Given the description of an element on the screen output the (x, y) to click on. 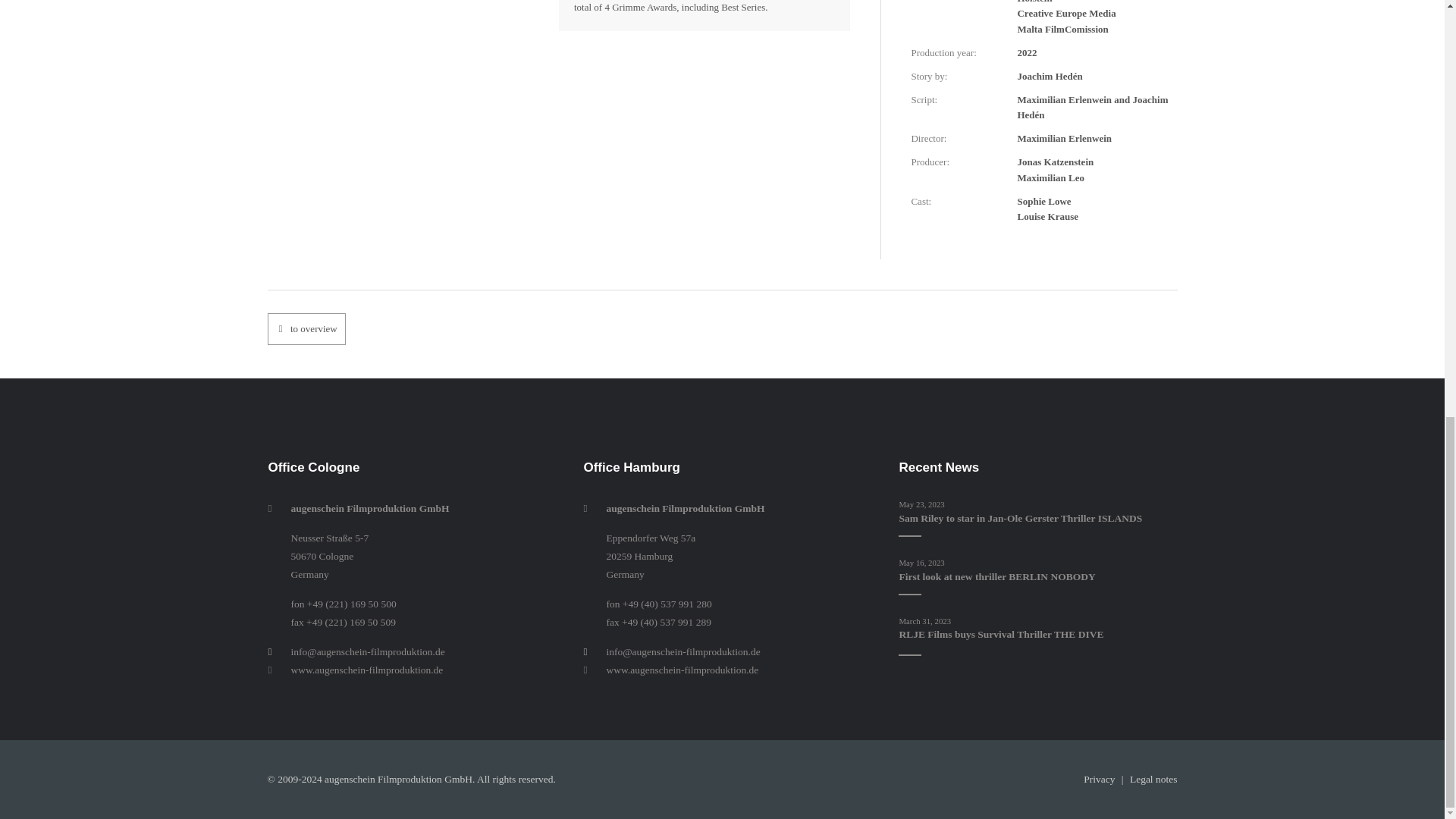
to overview (305, 328)
Contact (1151, 778)
RLJE Films buys Survival Thriller THE DIVE (1000, 633)
Sam Riley to star in Jan-Ole Gerster Thriller ISLANDS (1019, 518)
Privacy (1099, 778)
Privacy (1099, 778)
Read the article: RLJE Films buys Survival Thriller THE DIVE (1000, 633)
www.augenschein-filmproduktion.de (732, 669)
Legal notes (1151, 778)
First look at new thriller BERLIN NOBODY (996, 575)
www.augenschein-filmproduktion.de (416, 669)
Read the article: First look at new thriller BERLIN NOBODY (996, 575)
